Given the description of an element on the screen output the (x, y) to click on. 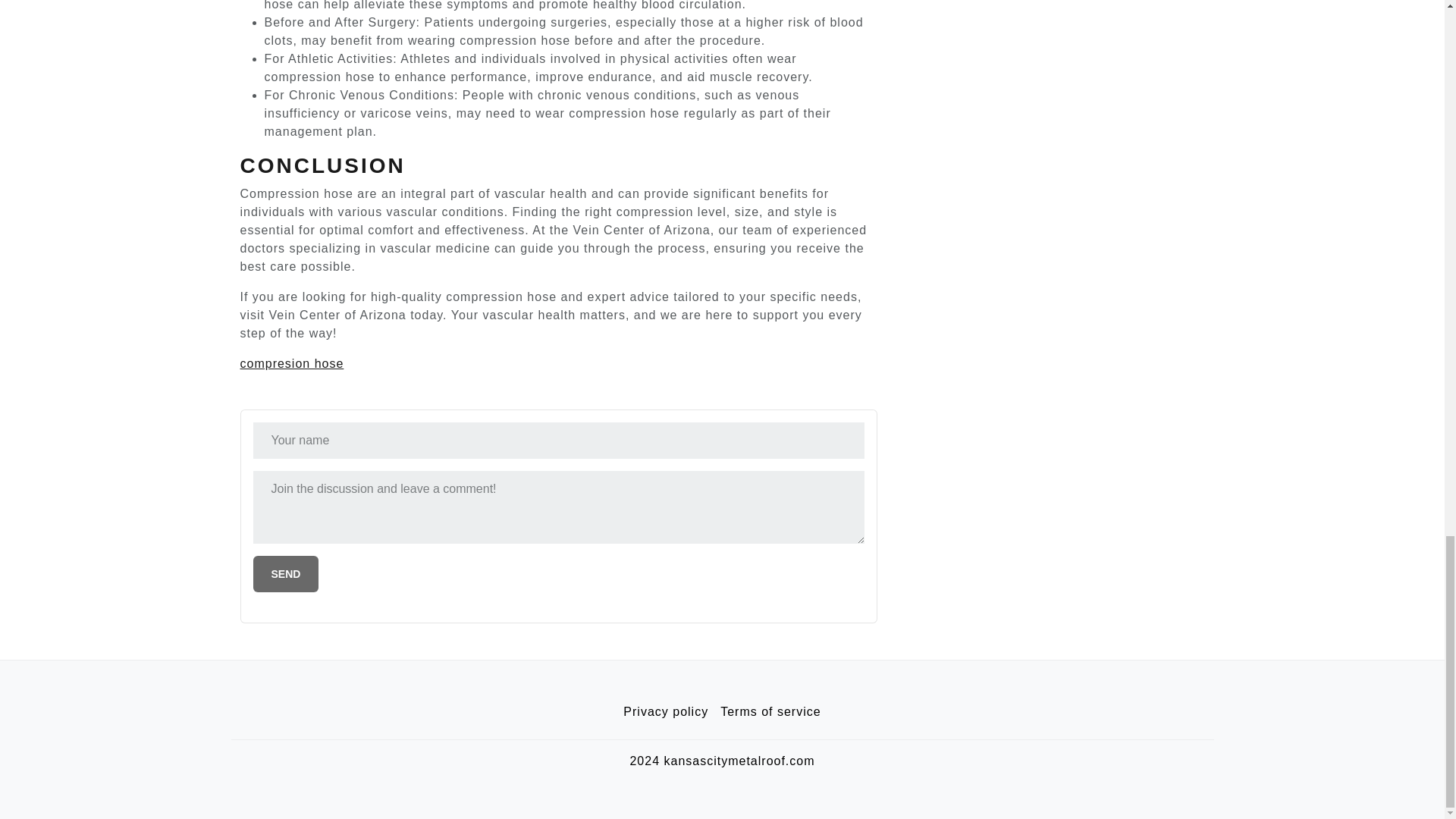
Terms of service (770, 711)
compresion hose (291, 363)
Send (285, 574)
Privacy policy (665, 711)
Send (285, 574)
